Given the description of an element on the screen output the (x, y) to click on. 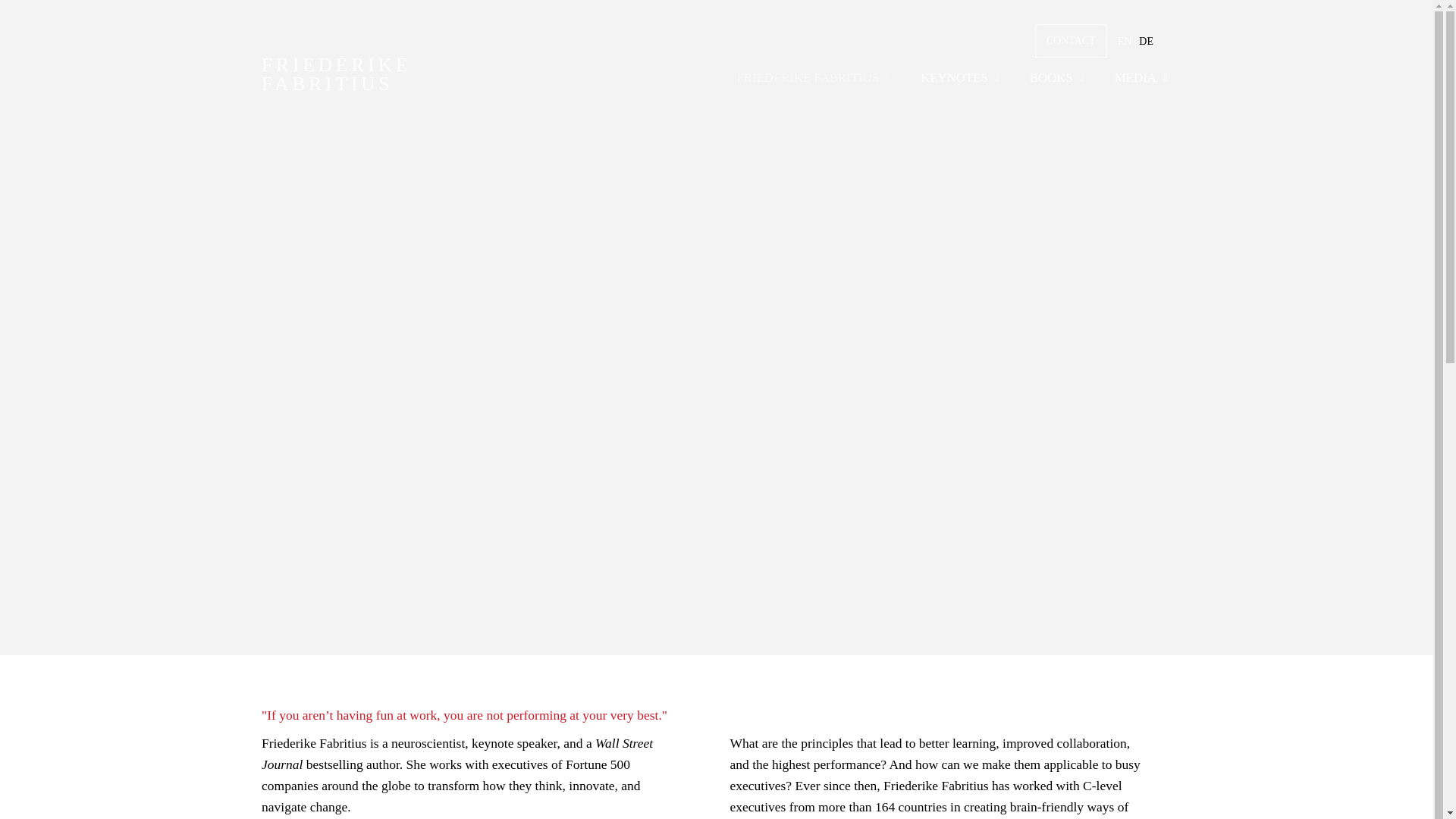
BOOKS (336, 74)
KEYNOTES (1058, 78)
DE (961, 78)
FRIEDERIKE FABRITIUS (1145, 41)
Language switcher : German (814, 78)
CONTACT (1145, 41)
MEDIA (1071, 40)
